Given the description of an element on the screen output the (x, y) to click on. 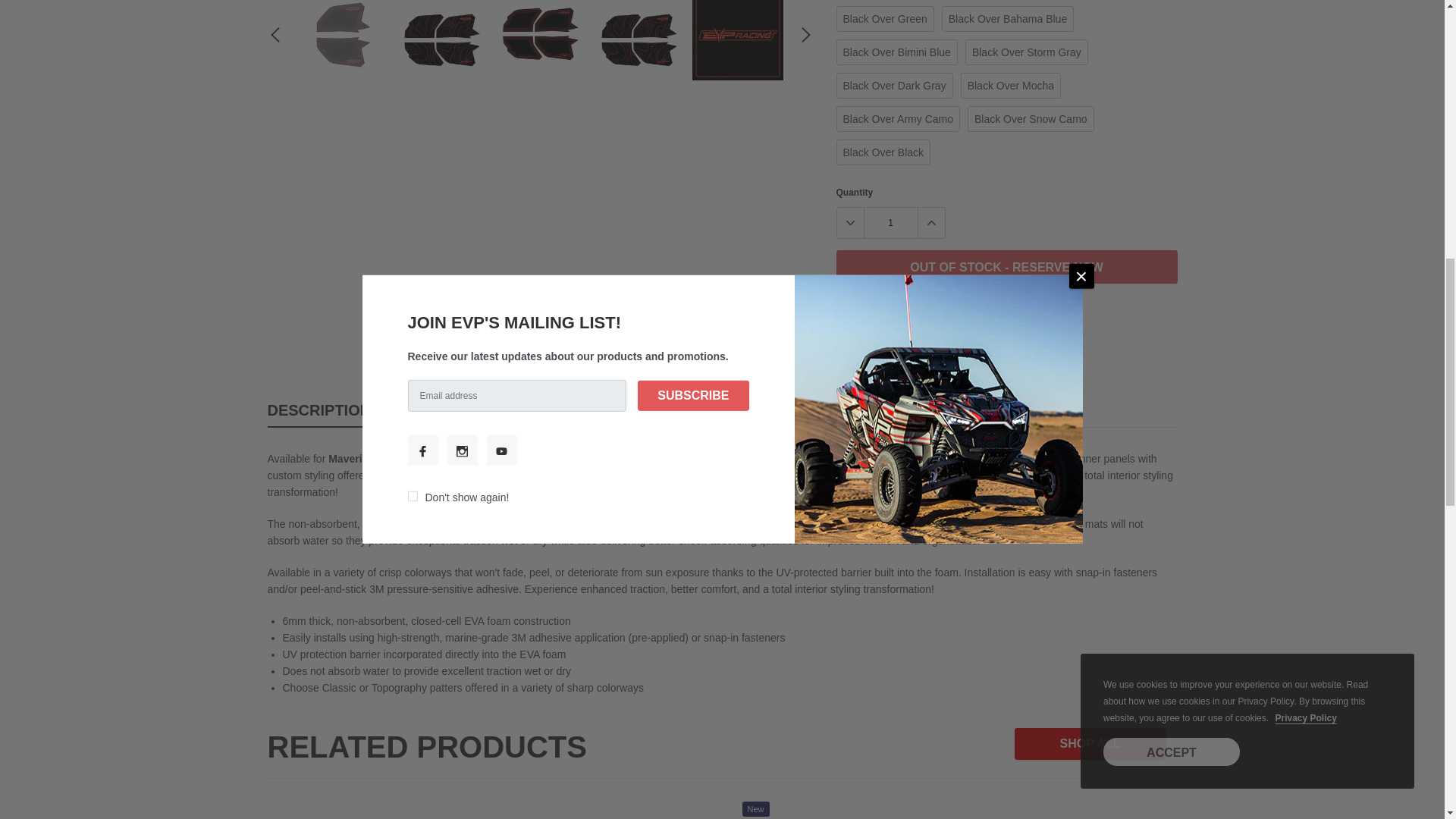
Black Over Army Camo (897, 118)
Black Over Bahama Blue (1008, 18)
Black Over Storm Gray (1026, 52)
1 (890, 223)
Black Over Black (882, 152)
Black Over Green (884, 18)
Black Over Bimini Blue (895, 52)
Black Over Dark Gray (893, 85)
Black Over Snow Camo (1031, 118)
Black Over Mocha (1010, 85)
